Given the description of an element on the screen output the (x, y) to click on. 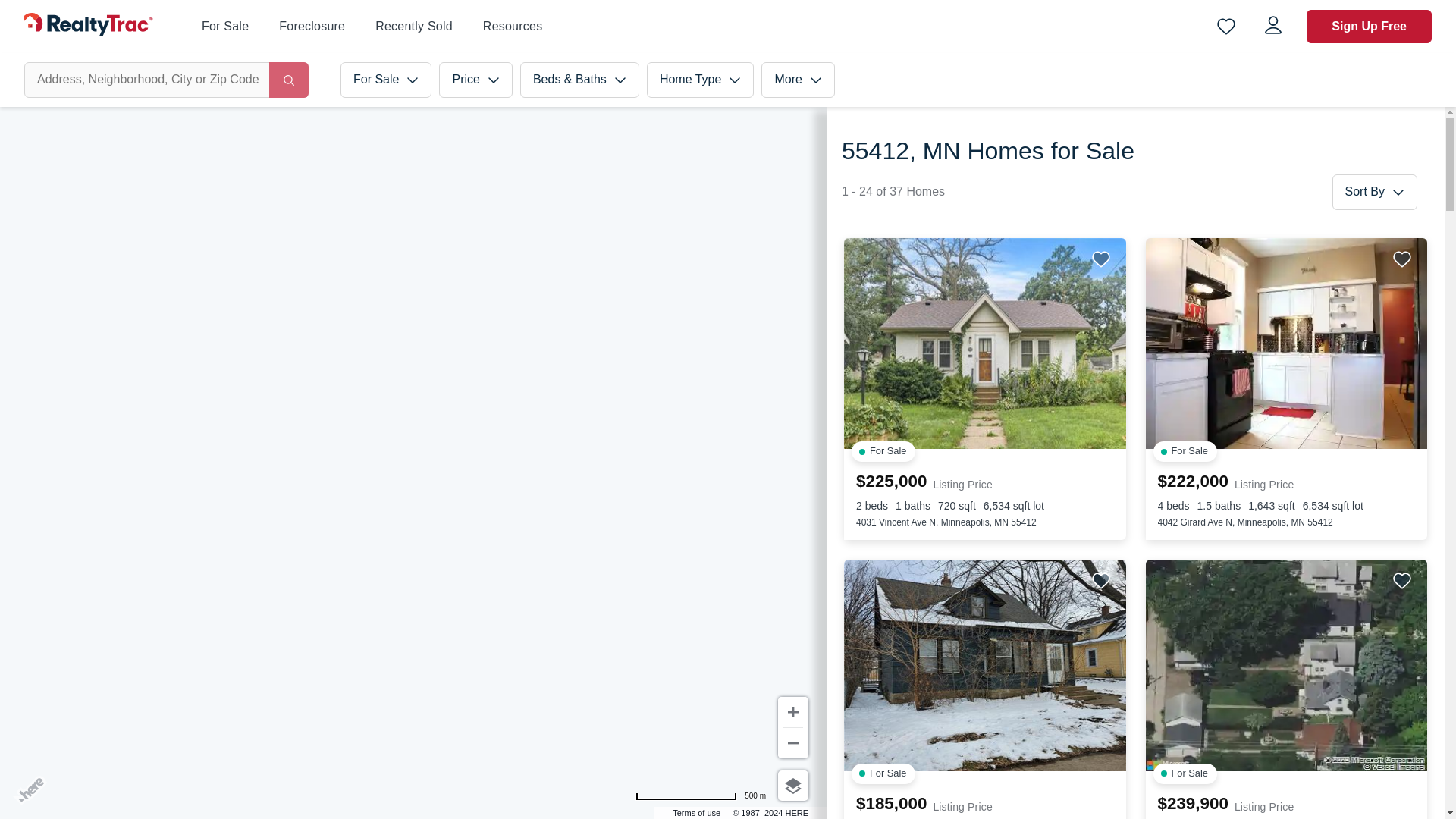
Price (475, 79)
Choose view (792, 785)
Zoom out (792, 743)
Resources (513, 26)
Zoom in (792, 711)
Sign Up Free (1368, 26)
For Sale (385, 79)
For Sale (225, 26)
Change to miles (699, 795)
Foreclosure (312, 26)
Recently Sold (413, 26)
